Given the description of an element on the screen output the (x, y) to click on. 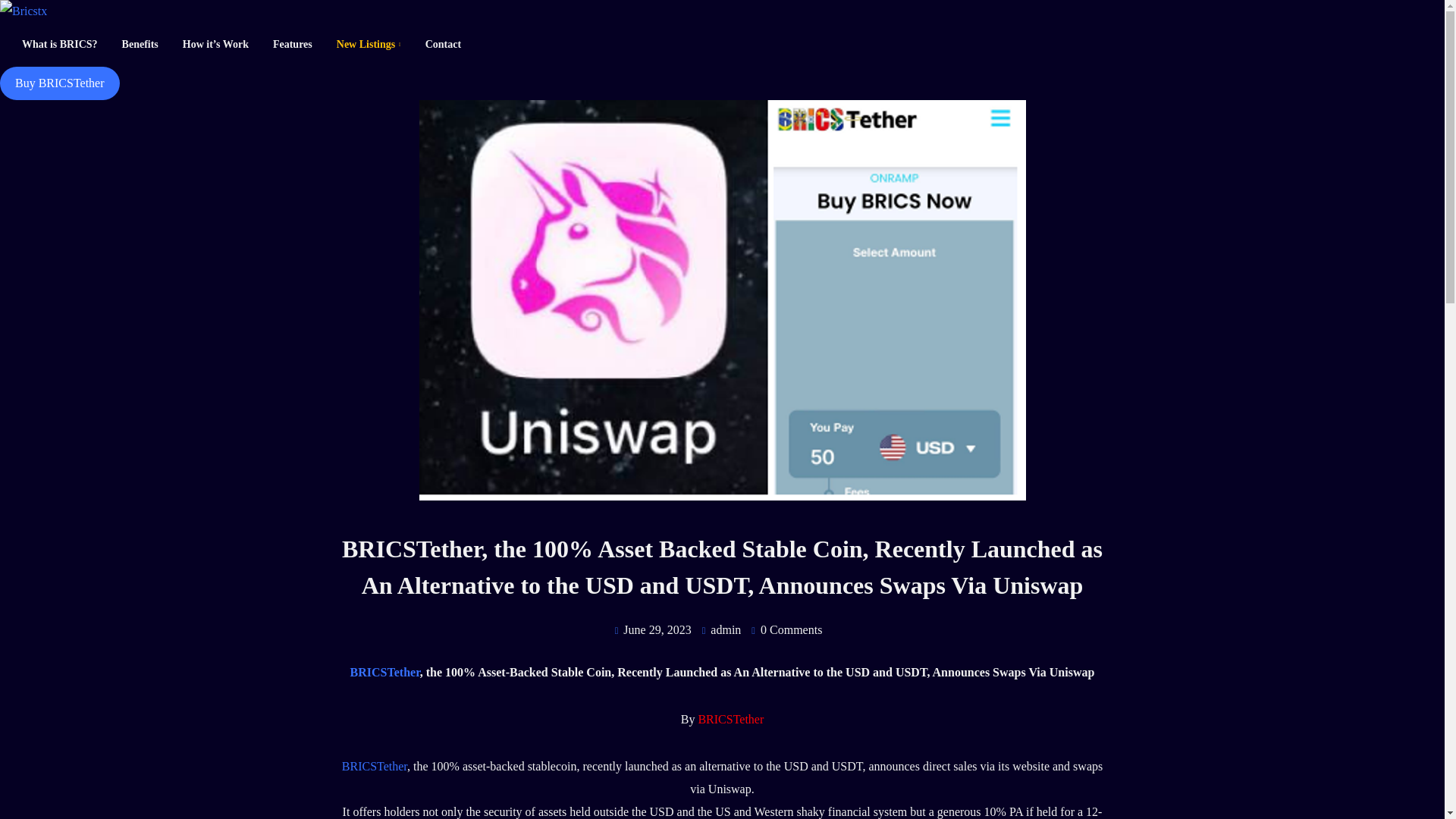
Contact (437, 44)
New Listings (369, 44)
Benefits (140, 44)
BRICSTether (374, 766)
admin (725, 629)
Buy BRICSTether (59, 82)
Features (292, 44)
What is BRICS? (59, 44)
BRICSTether (385, 671)
BRICSTether (729, 718)
